Given the description of an element on the screen output the (x, y) to click on. 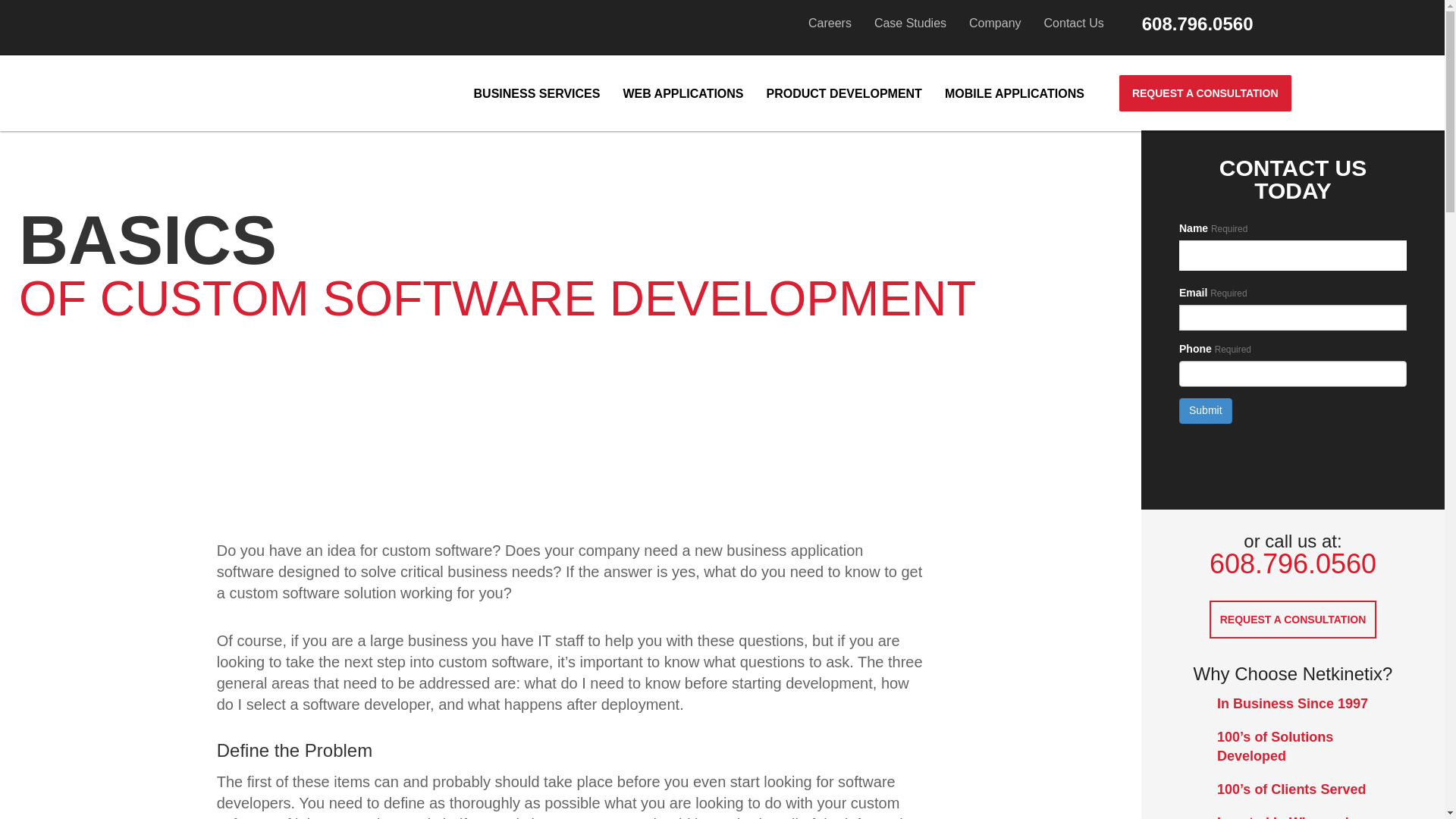
608.796.0560 (1292, 563)
REQUEST A CONSULTATION (1205, 93)
PRODUCT DEVELOPMENT (844, 94)
Company (994, 23)
REQUEST A CONSULTATION (1292, 619)
608.796.0560 (1197, 24)
Contact Us (1073, 23)
Careers (829, 23)
MOBILE APPLICATIONS (1014, 94)
Case Studies (910, 23)
